Given the description of an element on the screen output the (x, y) to click on. 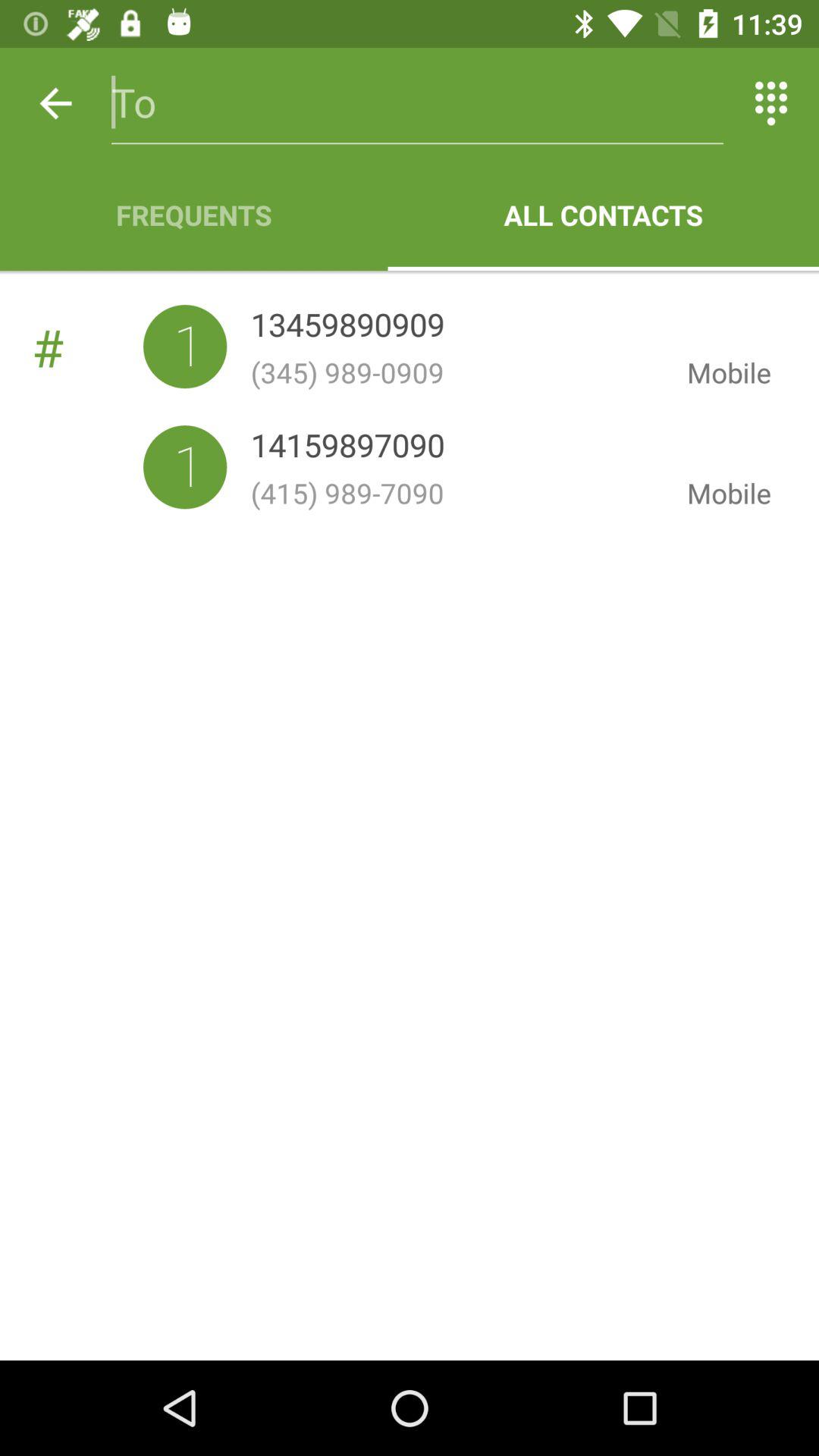
open the item above frequents item (417, 103)
